Given the description of an element on the screen output the (x, y) to click on. 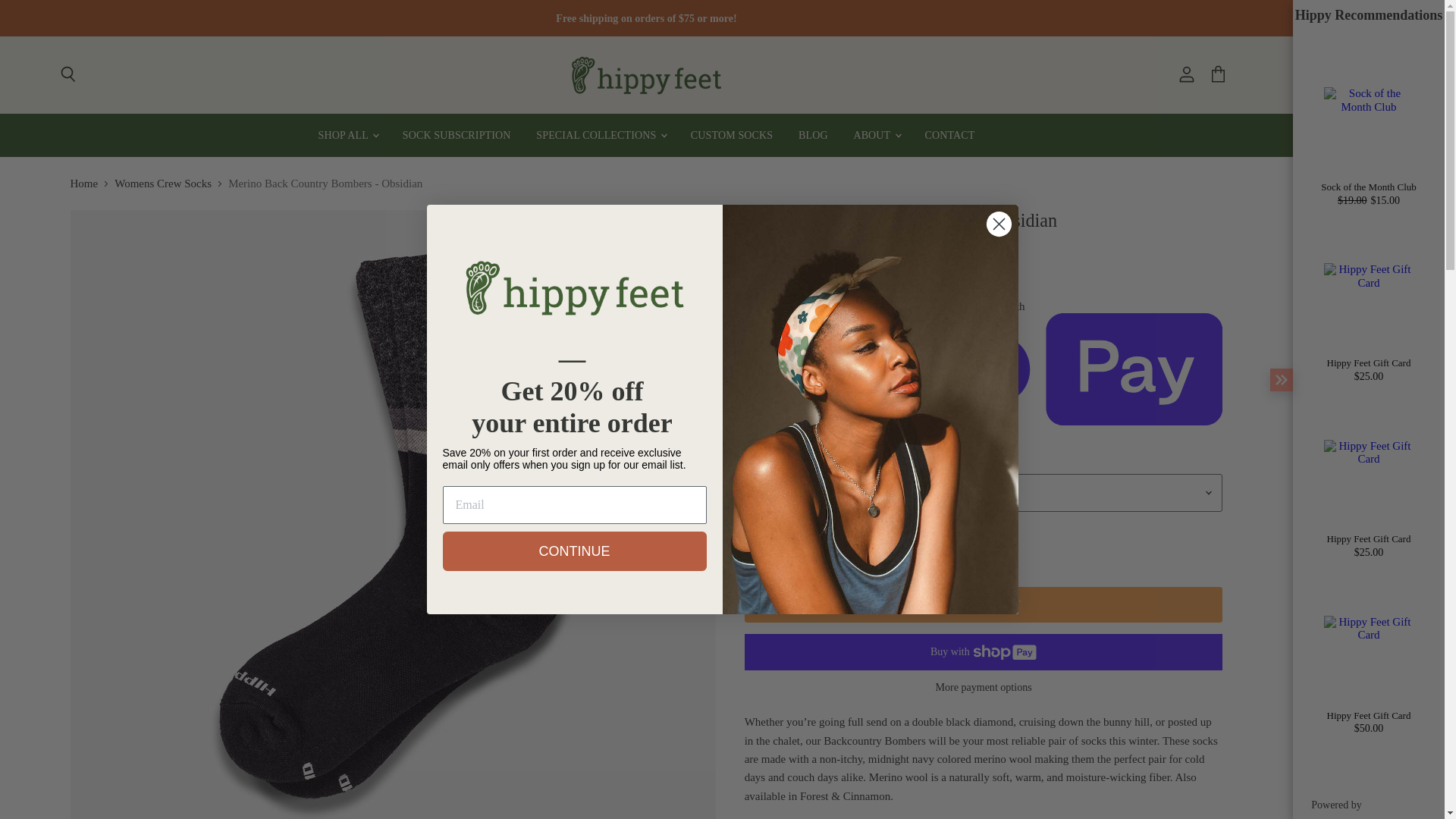
View account (1187, 74)
SPECIAL COLLECTIONS (600, 134)
SHOP ALL (347, 134)
SOCK SUBSCRIPTION (456, 134)
Search (67, 74)
